Given the description of an element on the screen output the (x, y) to click on. 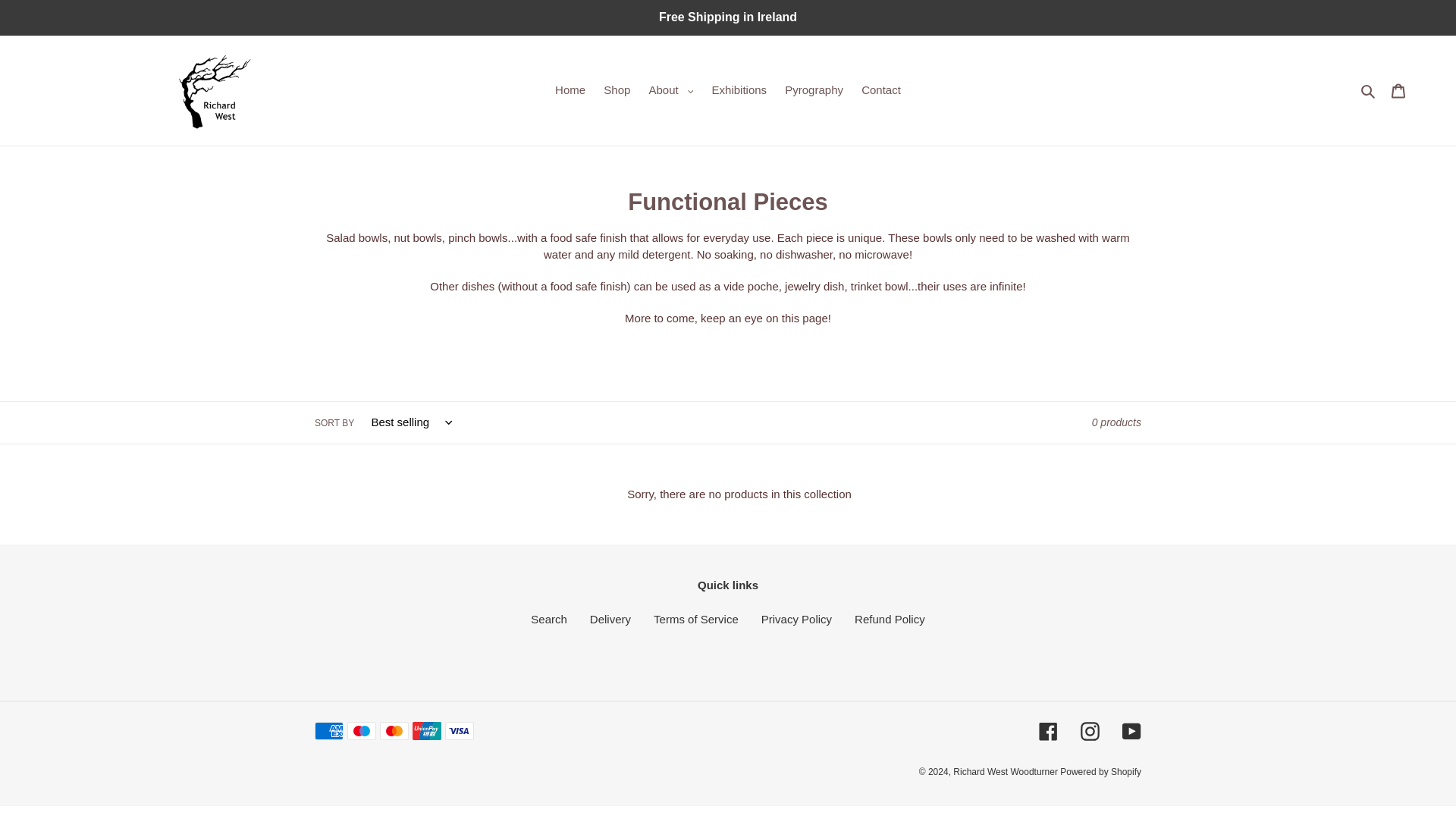
Search (549, 618)
Search (1368, 90)
Facebook (1048, 731)
Exhibitions (739, 90)
Terms of Service (695, 618)
YouTube (1131, 731)
Richard West Woodturner (1006, 770)
Delivery (609, 618)
Powered by Shopify (1100, 770)
Refund Policy (889, 618)
Instagram (1089, 731)
Home (569, 90)
Pyrography (813, 90)
Contact (880, 90)
About (671, 90)
